Given the description of an element on the screen output the (x, y) to click on. 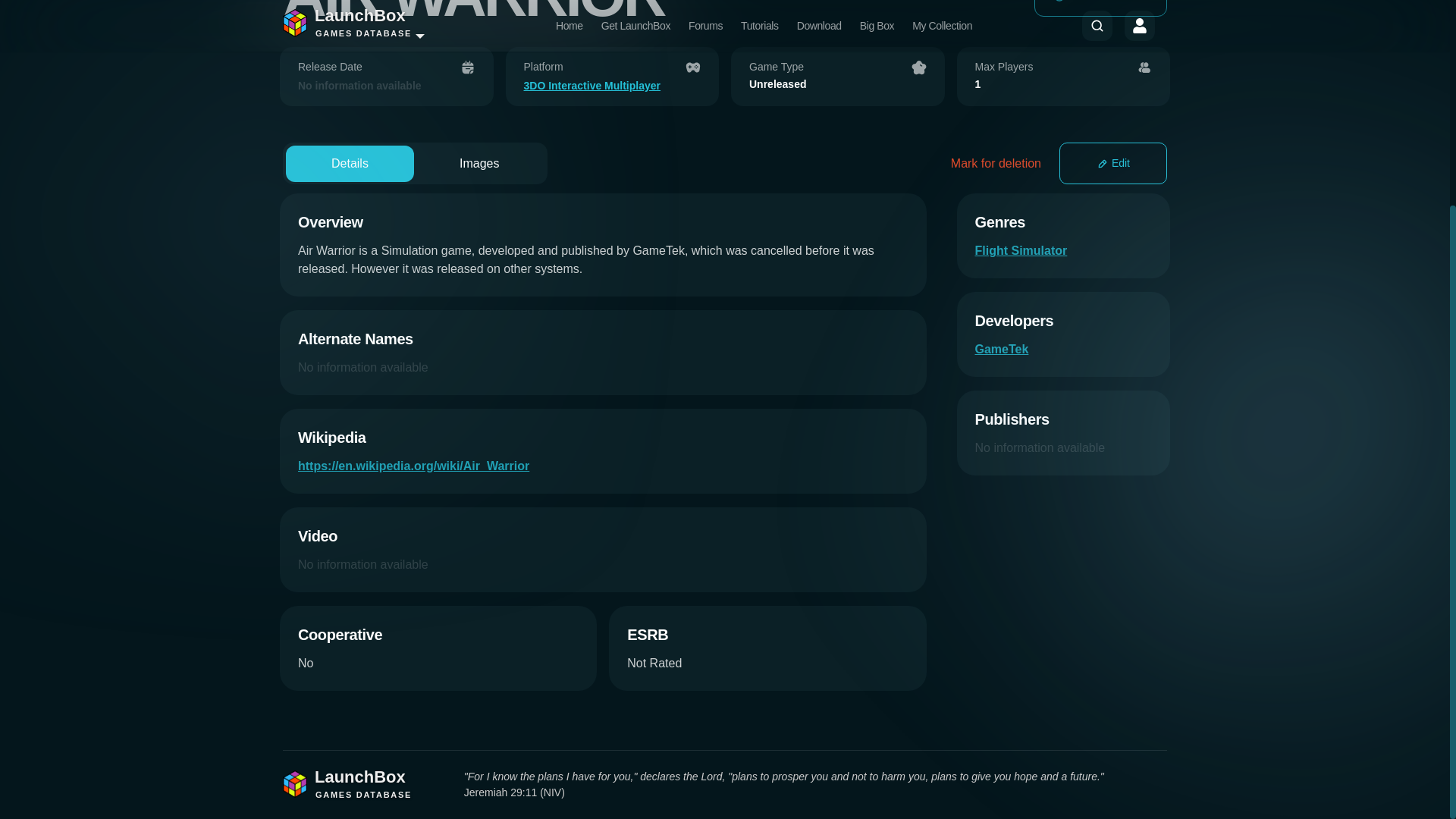
Mark for deletion (995, 163)
Add to Collection (1100, 7)
Flight Simulator (1021, 250)
3DO Interactive Multiplayer (611, 85)
Details (349, 163)
GameTek (1002, 349)
Images (478, 163)
Edit (1113, 163)
